Given the description of an element on the screen output the (x, y) to click on. 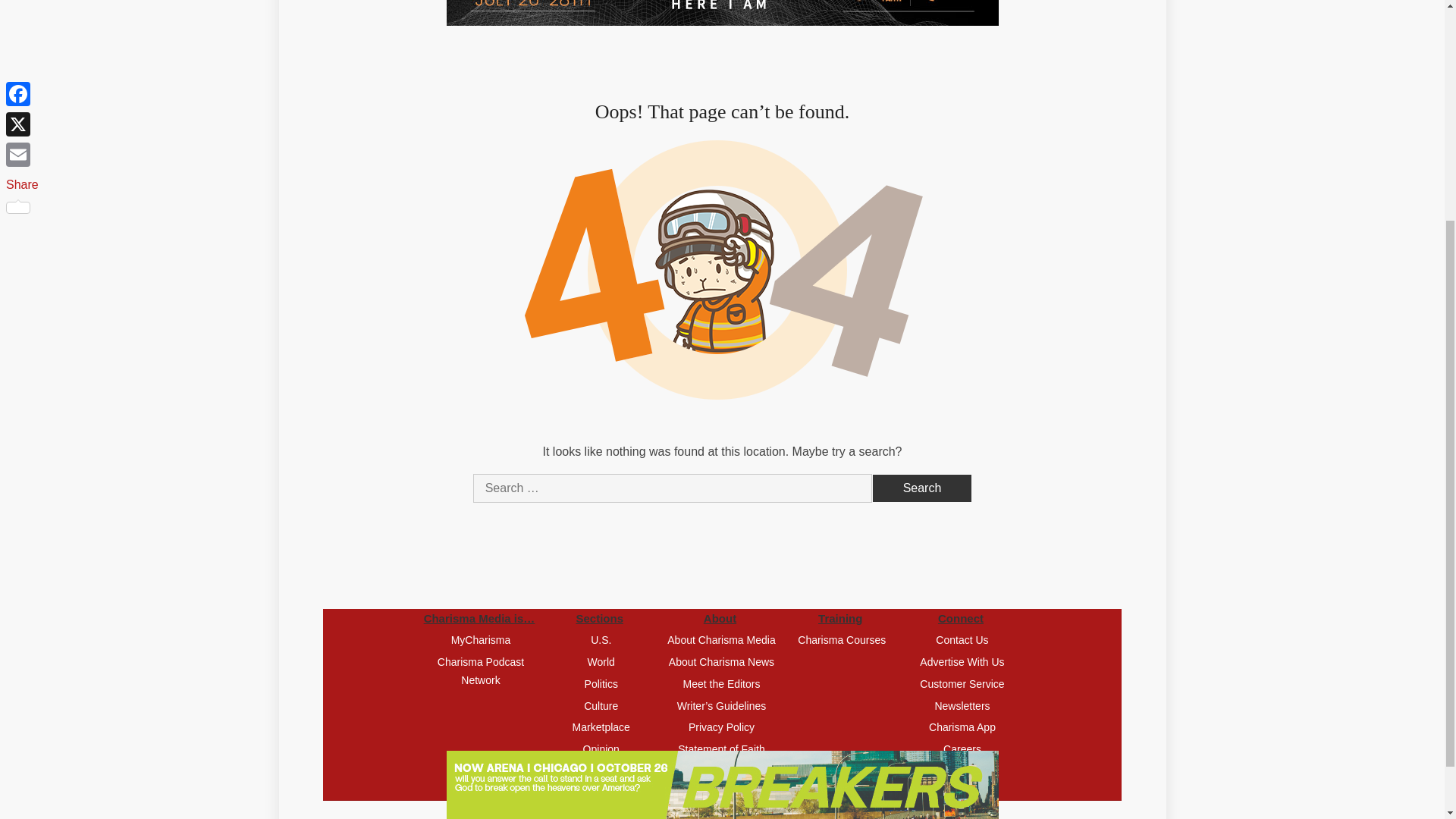
Search (922, 488)
Search (922, 488)
